Given the description of an element on the screen output the (x, y) to click on. 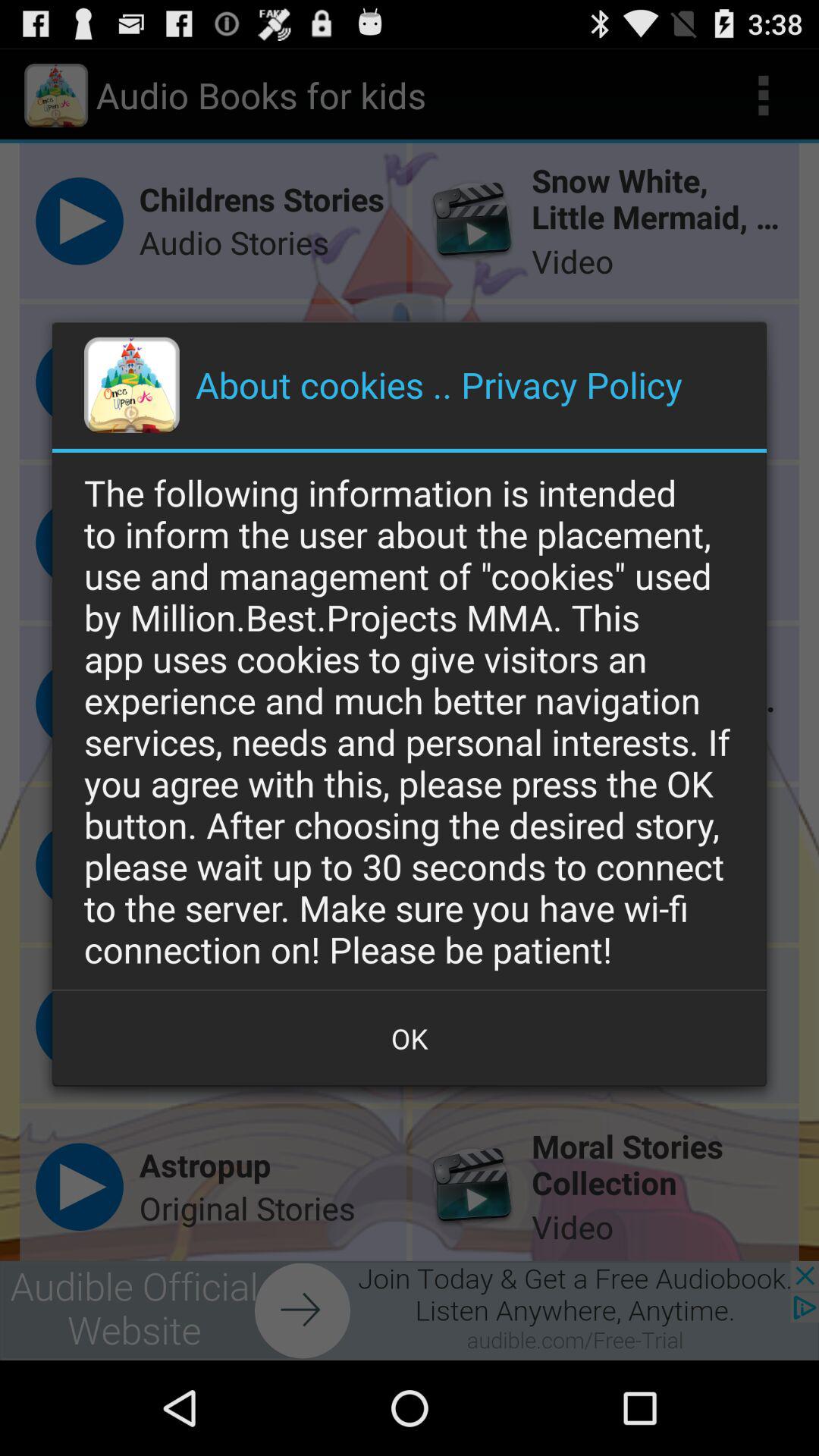
turn off the icon above the ok icon (409, 720)
